Given the description of an element on the screen output the (x, y) to click on. 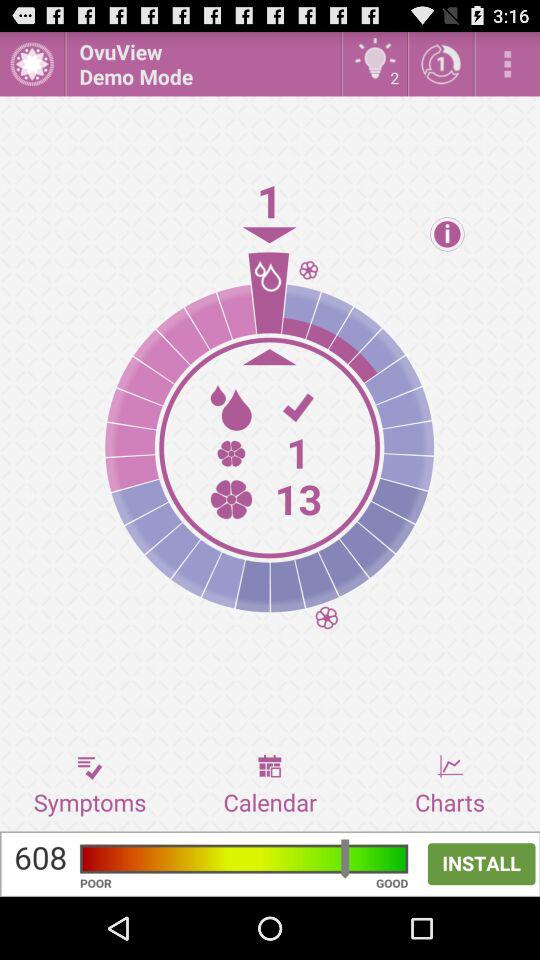
advertisement (270, 864)
